Given the description of an element on the screen output the (x, y) to click on. 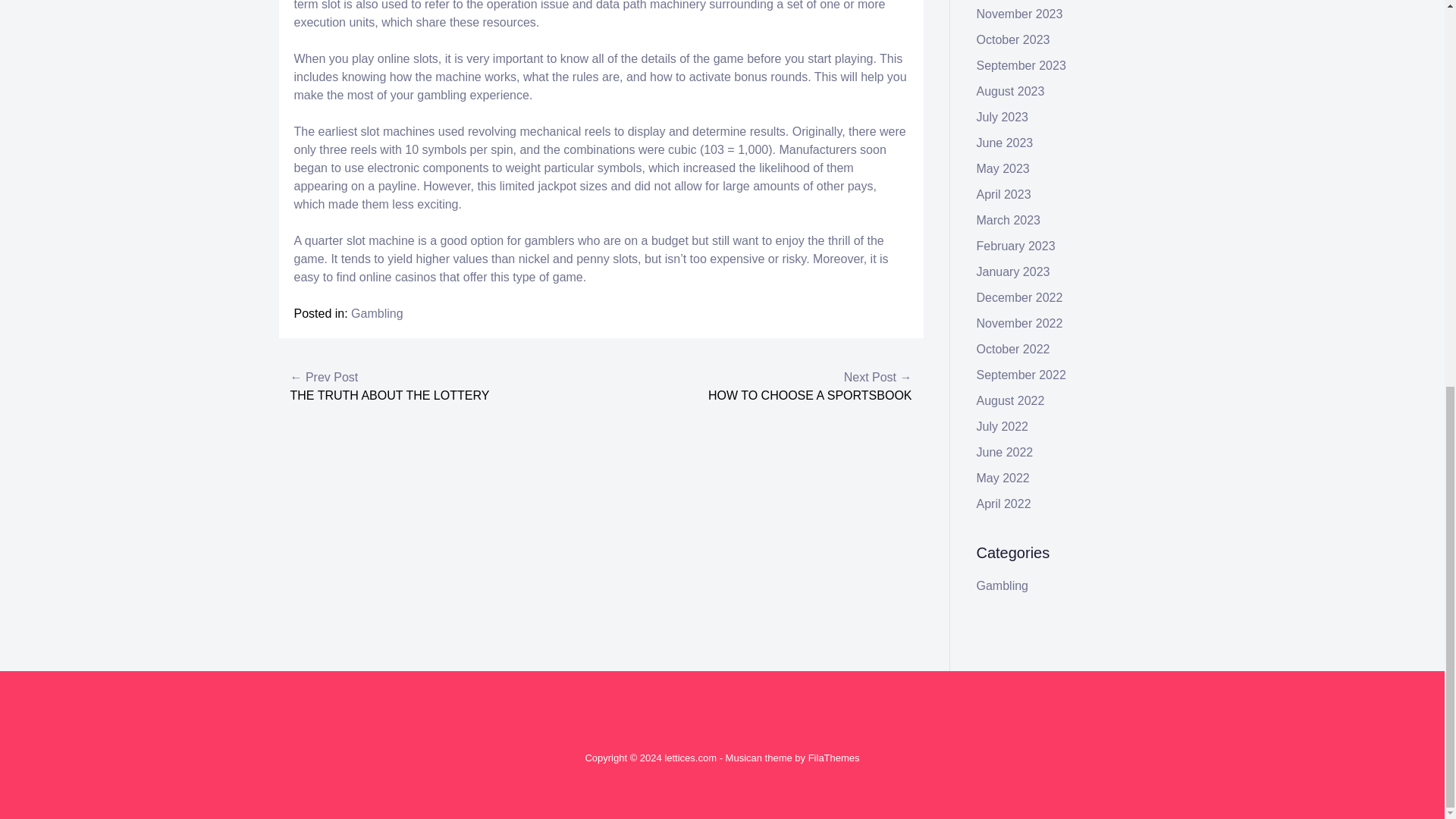
July 2023 (1002, 116)
December 2022 (1019, 297)
February 2023 (1015, 245)
May 2023 (1002, 168)
September 2022 (1020, 374)
Gambling (376, 313)
July 2022 (1002, 426)
August 2022 (1010, 400)
lettices.com (689, 757)
March 2023 (1008, 219)
November 2022 (1019, 323)
June 2023 (1004, 142)
October 2023 (1012, 39)
April 2023 (1003, 194)
August 2023 (1010, 91)
